Given the description of an element on the screen output the (x, y) to click on. 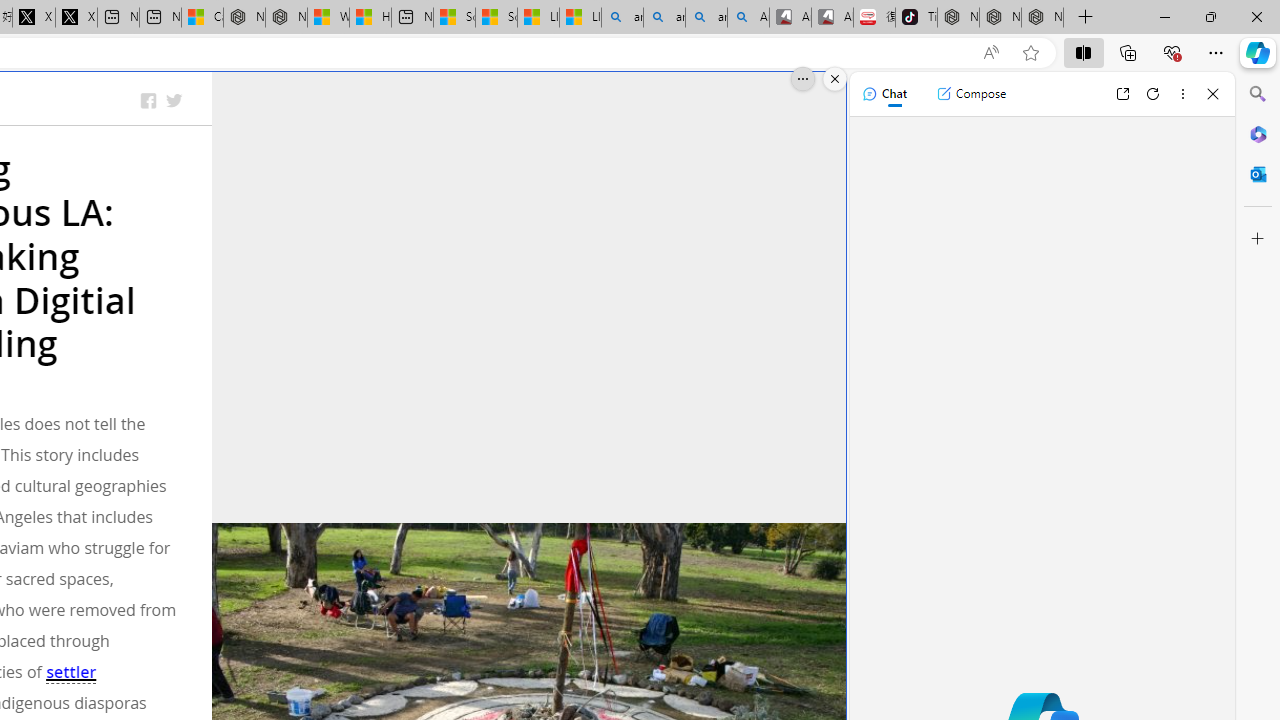
TikTok (916, 17)
New tab (411, 17)
Browser essentials (1171, 52)
Open link in new tab (1122, 93)
Amazon Echo Robot - Search Images (748, 17)
Nordace - Summer Adventures 2024 (286, 17)
Copilot (Ctrl+Shift+.) (1258, 52)
Read aloud this page (Ctrl+Shift+U) (991, 53)
Outlook (1258, 174)
Split screen (1083, 52)
Compose (971, 93)
More options. (803, 79)
X (76, 17)
